Given the description of an element on the screen output the (x, y) to click on. 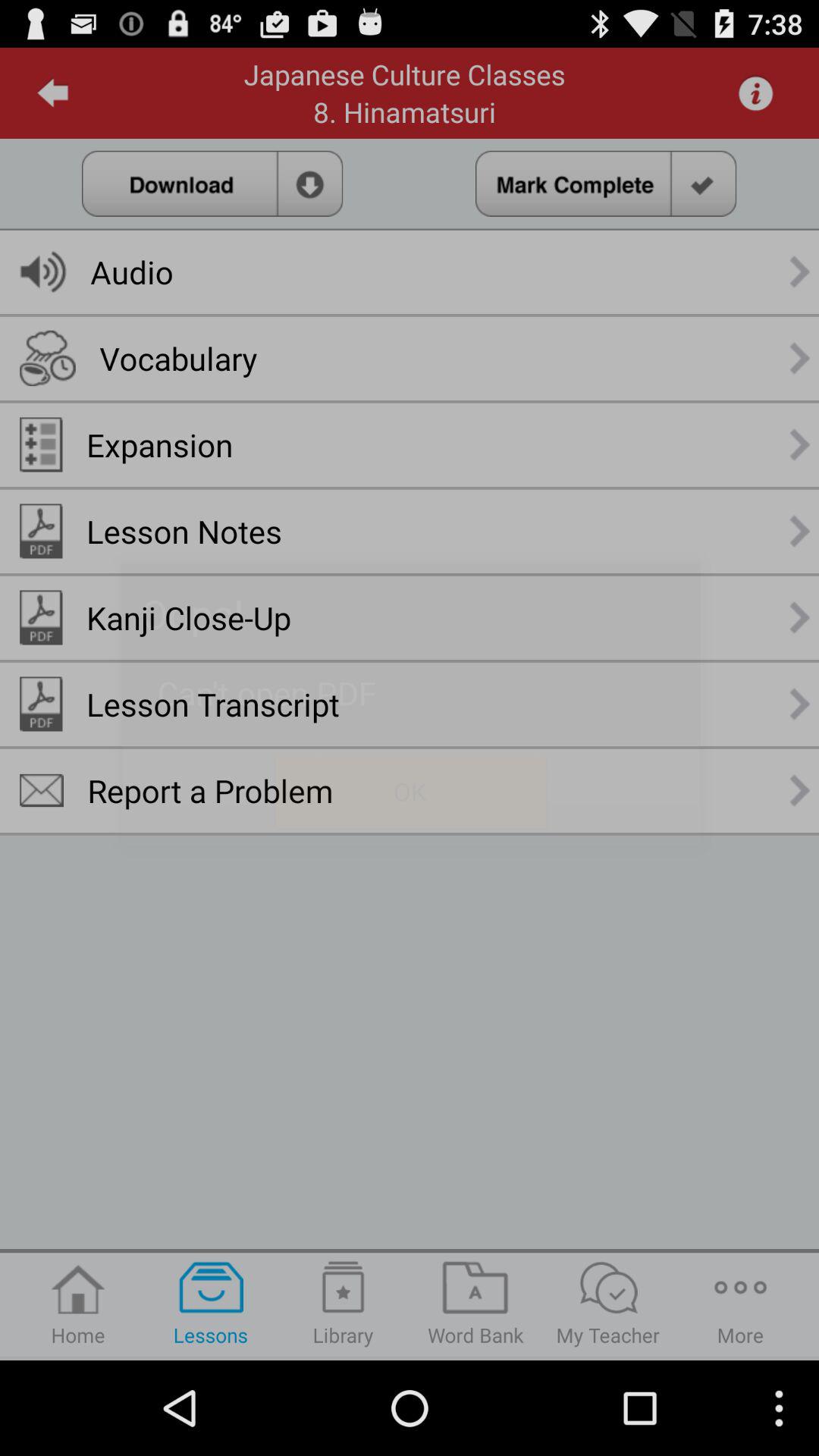
swipe until the report a problem (210, 790)
